Given the description of an element on the screen output the (x, y) to click on. 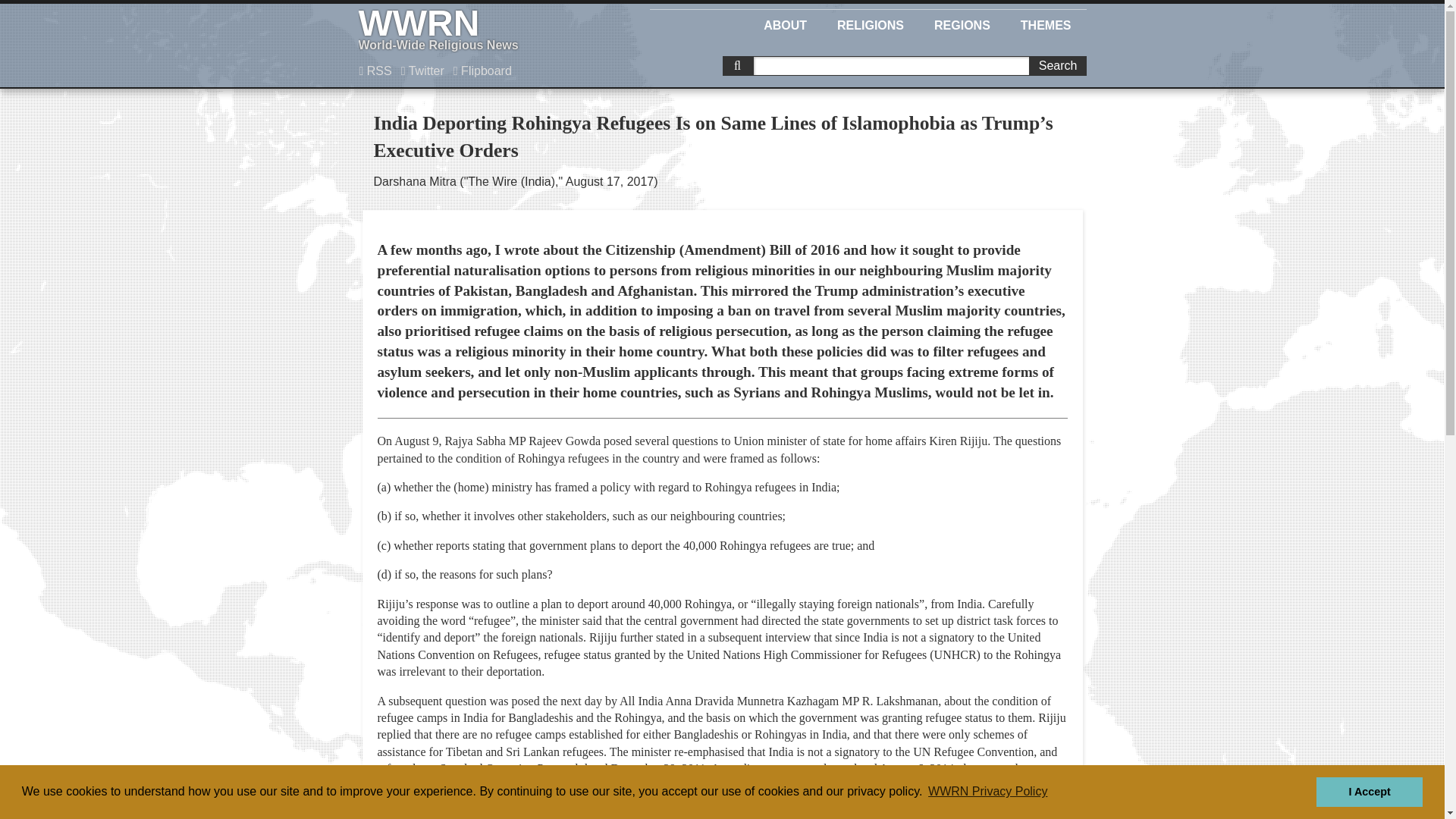
I Accept (1369, 791)
Search (1057, 66)
WWRN Privacy Policy (987, 791)
Flipboard (482, 70)
RELIGIONS (870, 23)
THEMES (1046, 23)
ABOUT (785, 23)
RSS (374, 70)
Twitter (485, 31)
REGIONS (422, 70)
